Given the description of an element on the screen output the (x, y) to click on. 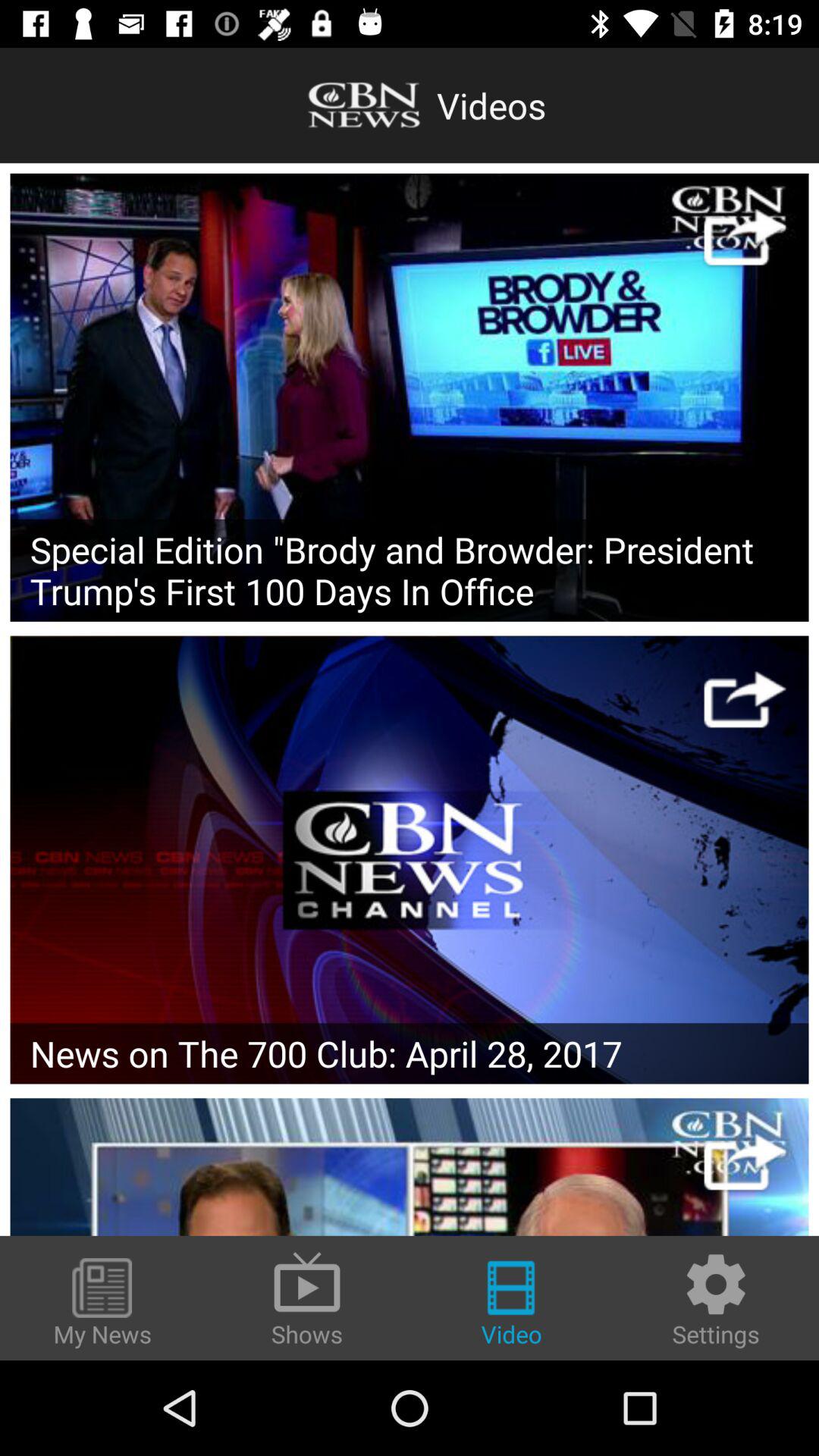
news article link (409, 1166)
